Given the description of an element on the screen output the (x, y) to click on. 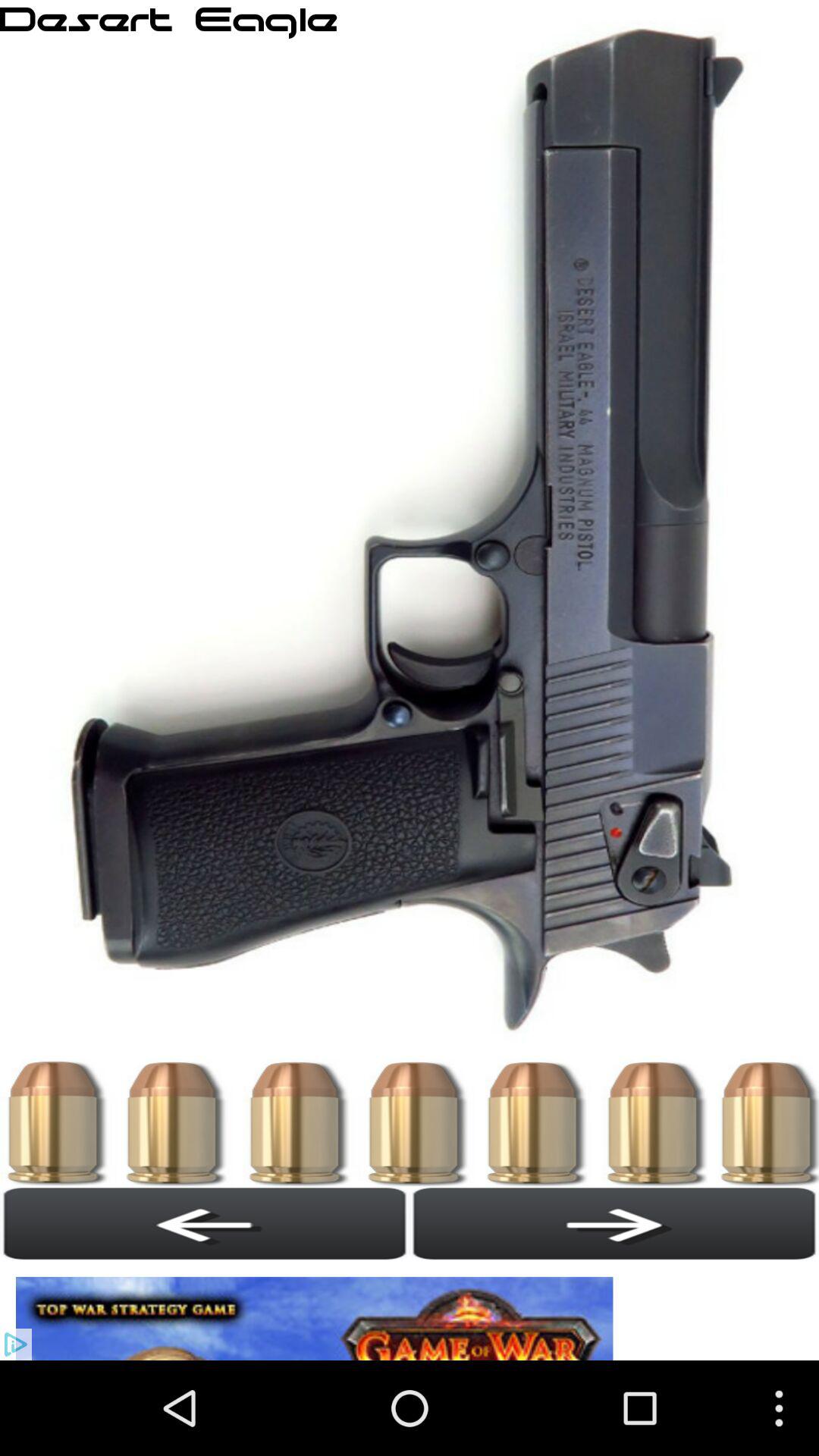
back (204, 1223)
